Given the description of an element on the screen output the (x, y) to click on. 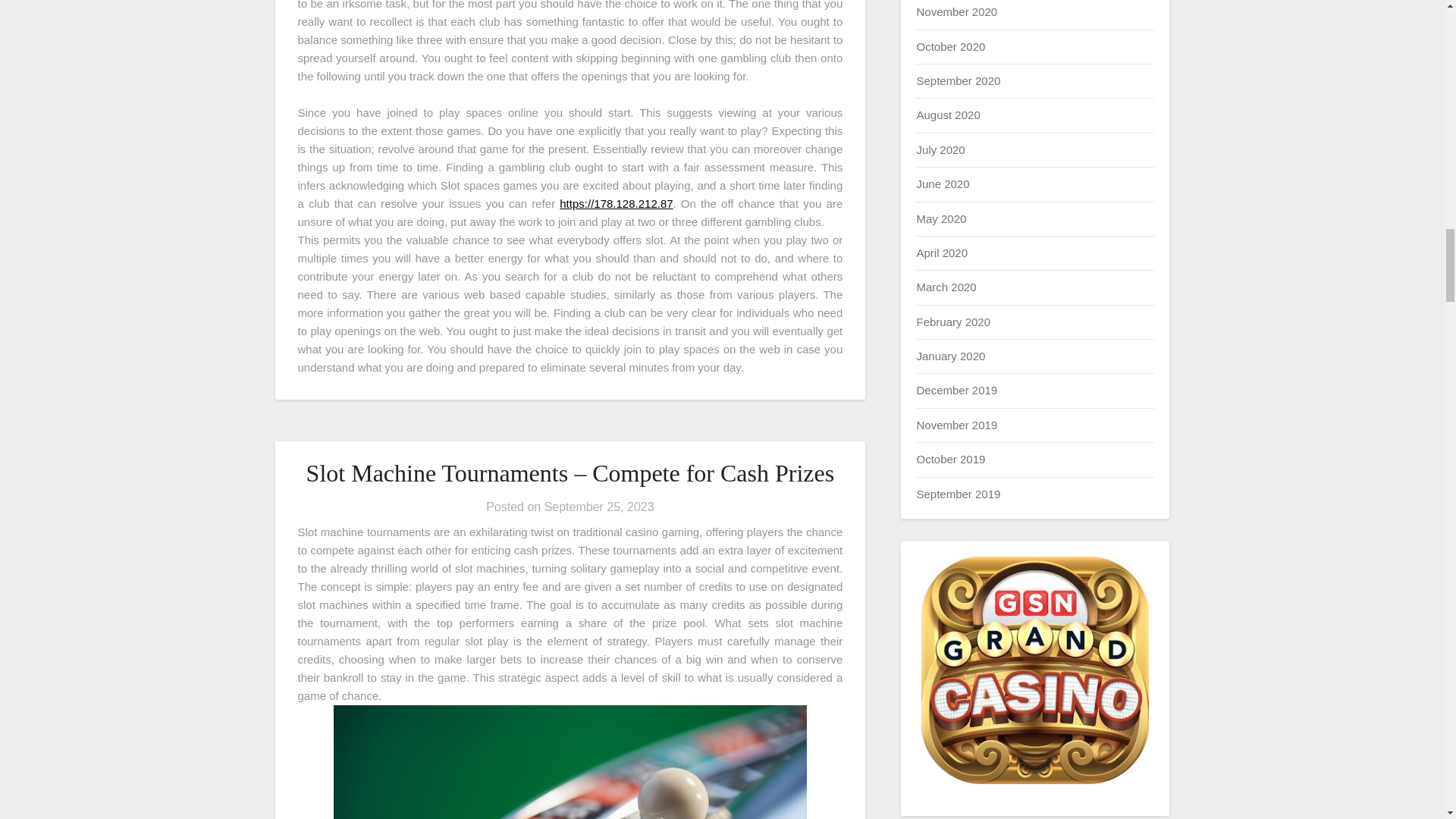
September 25, 2023 (598, 506)
